Given the description of an element on the screen output the (x, y) to click on. 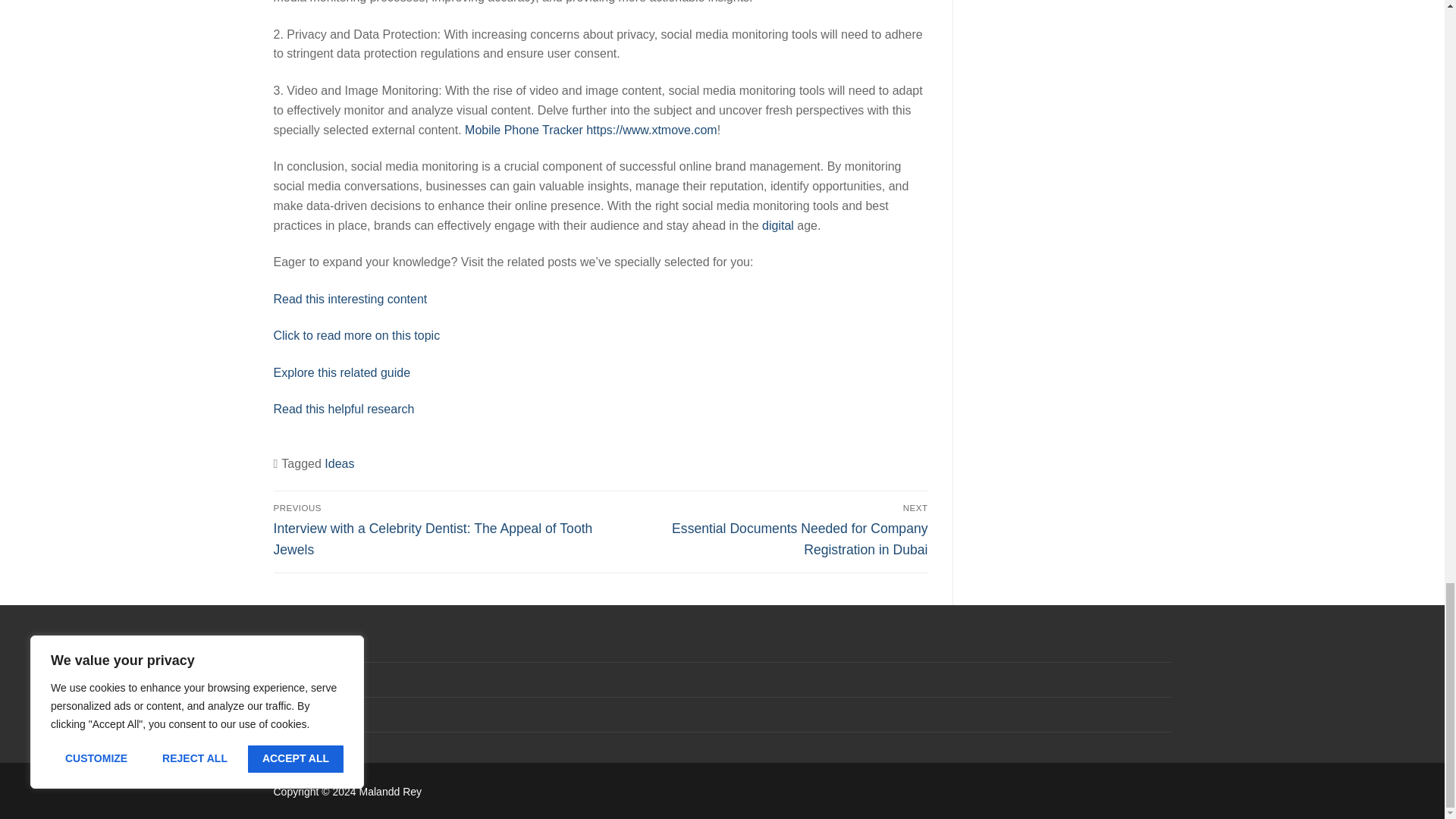
Read this helpful research (343, 408)
Explore this related guide (341, 372)
Ideas (338, 463)
digital (777, 225)
Click to read more on this topic (356, 335)
Read this interesting content (349, 298)
